Given the description of an element on the screen output the (x, y) to click on. 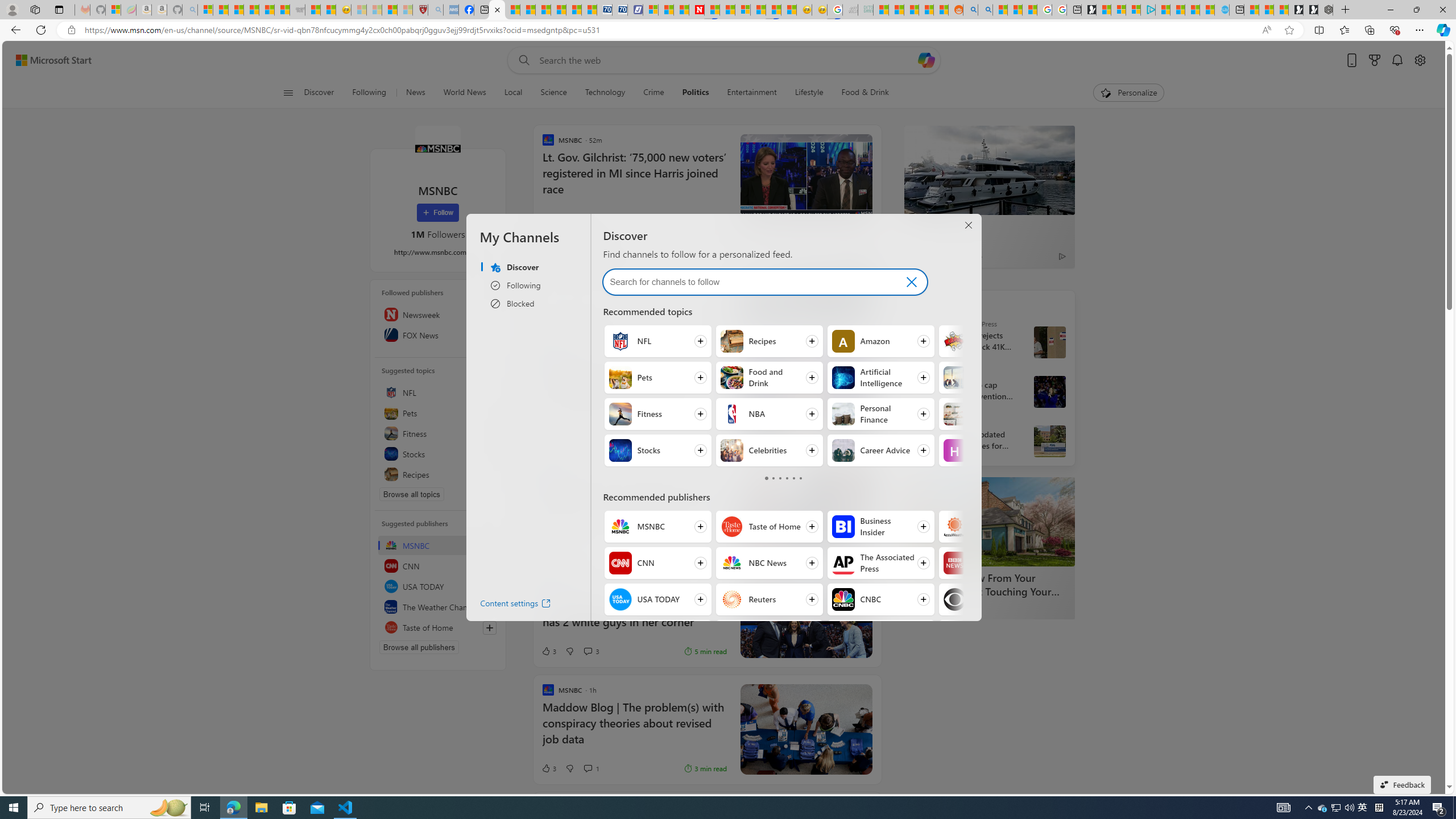
Follow NBC News (768, 563)
Follow Pets (657, 377)
 Harris and Walz campaign in Wisconsin (1049, 391)
Open settings (1420, 60)
Fix Boat BlissAdoceanbluemarine (707, 286)
Enter your search term (726, 59)
LendingTree (948, 607)
CNBC (842, 599)
View comments 3 Comment (587, 651)
